Given the description of an element on the screen output the (x, y) to click on. 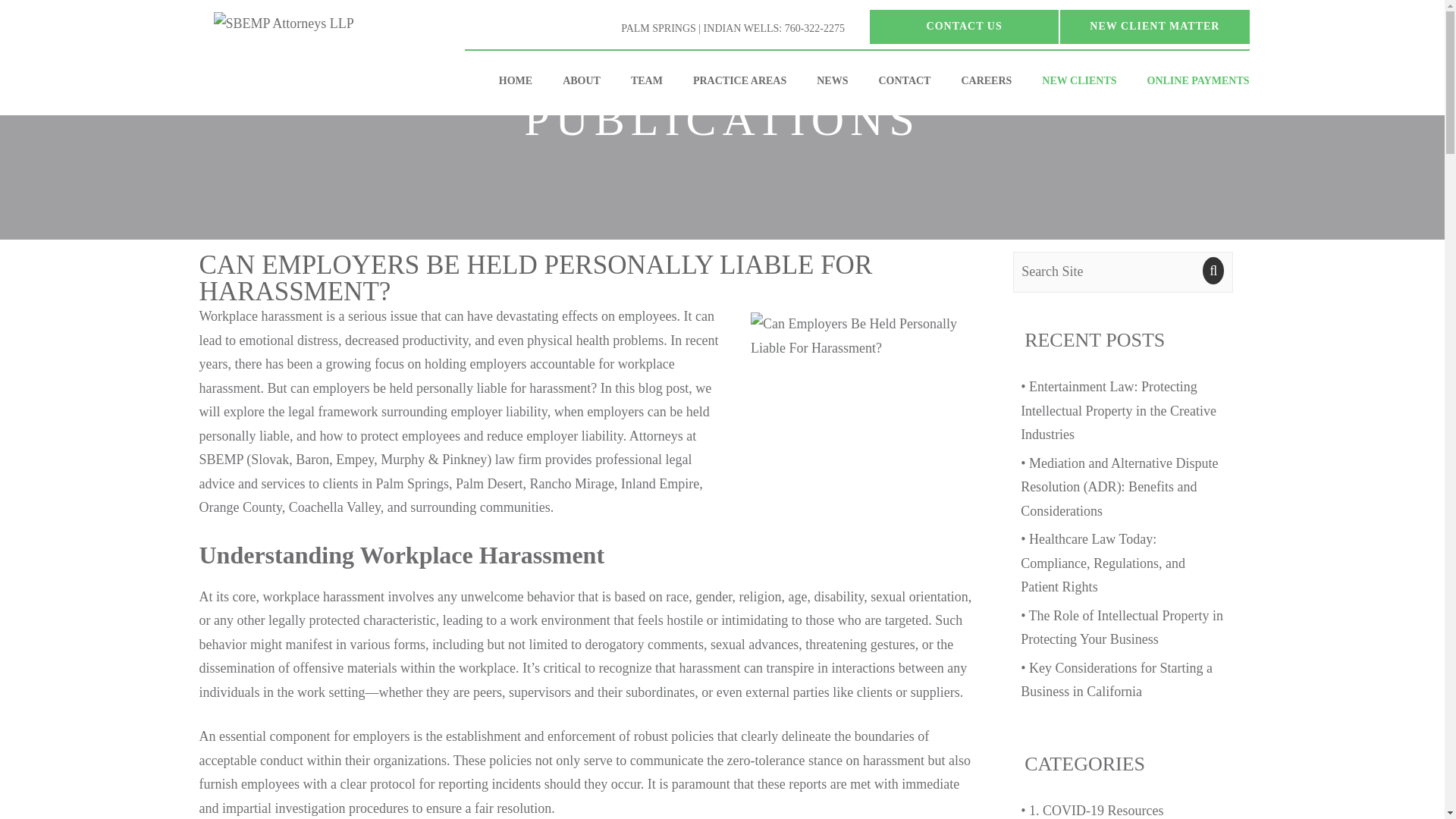
CONTACT US (963, 26)
TEAM (646, 80)
ABOUT (581, 80)
PRACTICE AREAS (740, 80)
NEWS (832, 80)
HOME (515, 80)
NEW CLIENT MATTER (1154, 26)
CONTACT (903, 80)
